Given the description of an element on the screen output the (x, y) to click on. 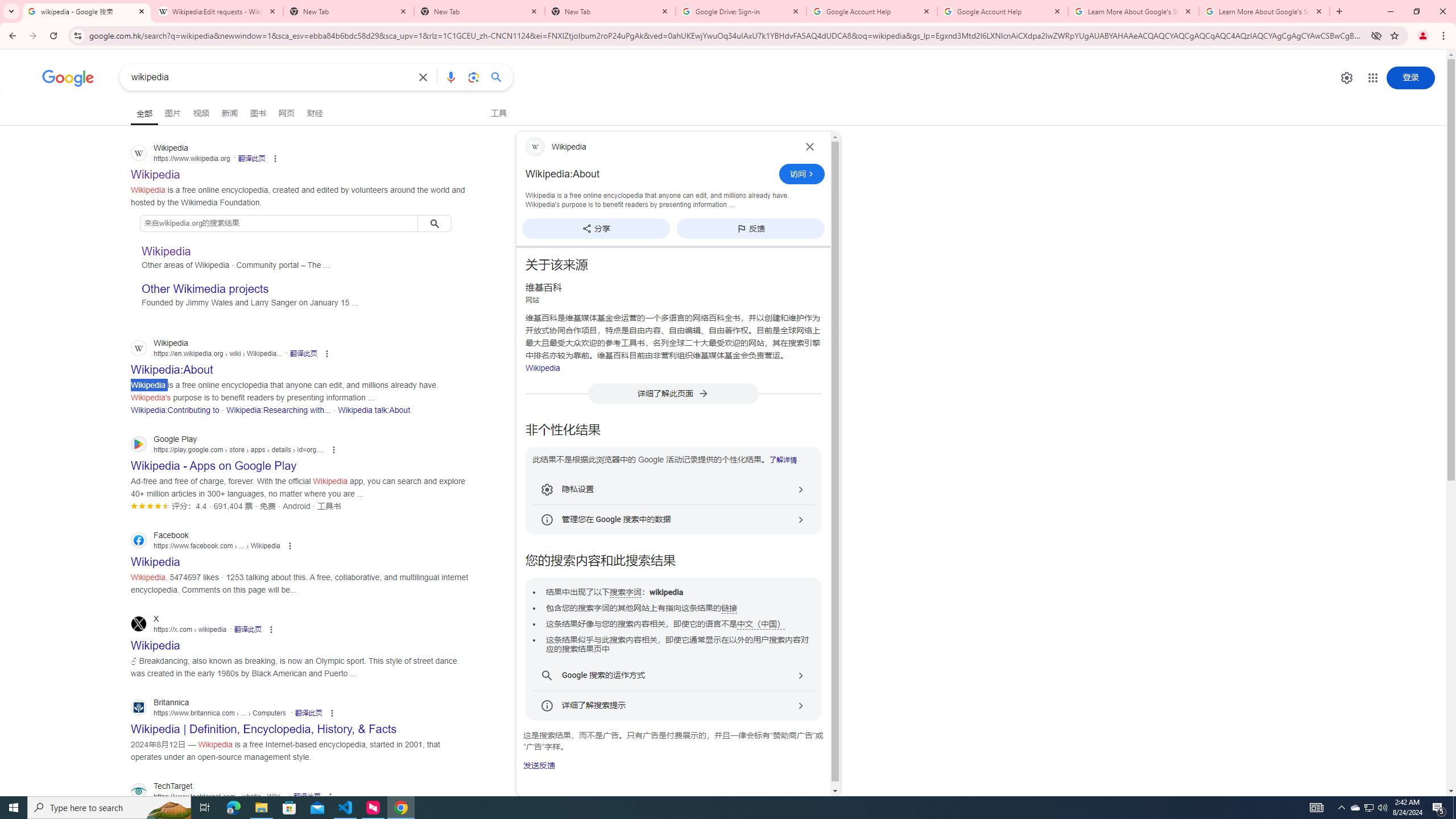
Other Wikimedia projects (205, 288)
Wikipedia:Edit requests - Wikipedia (217, 11)
Google Drive: Sign-in (740, 11)
